Given the description of an element on the screen output the (x, y) to click on. 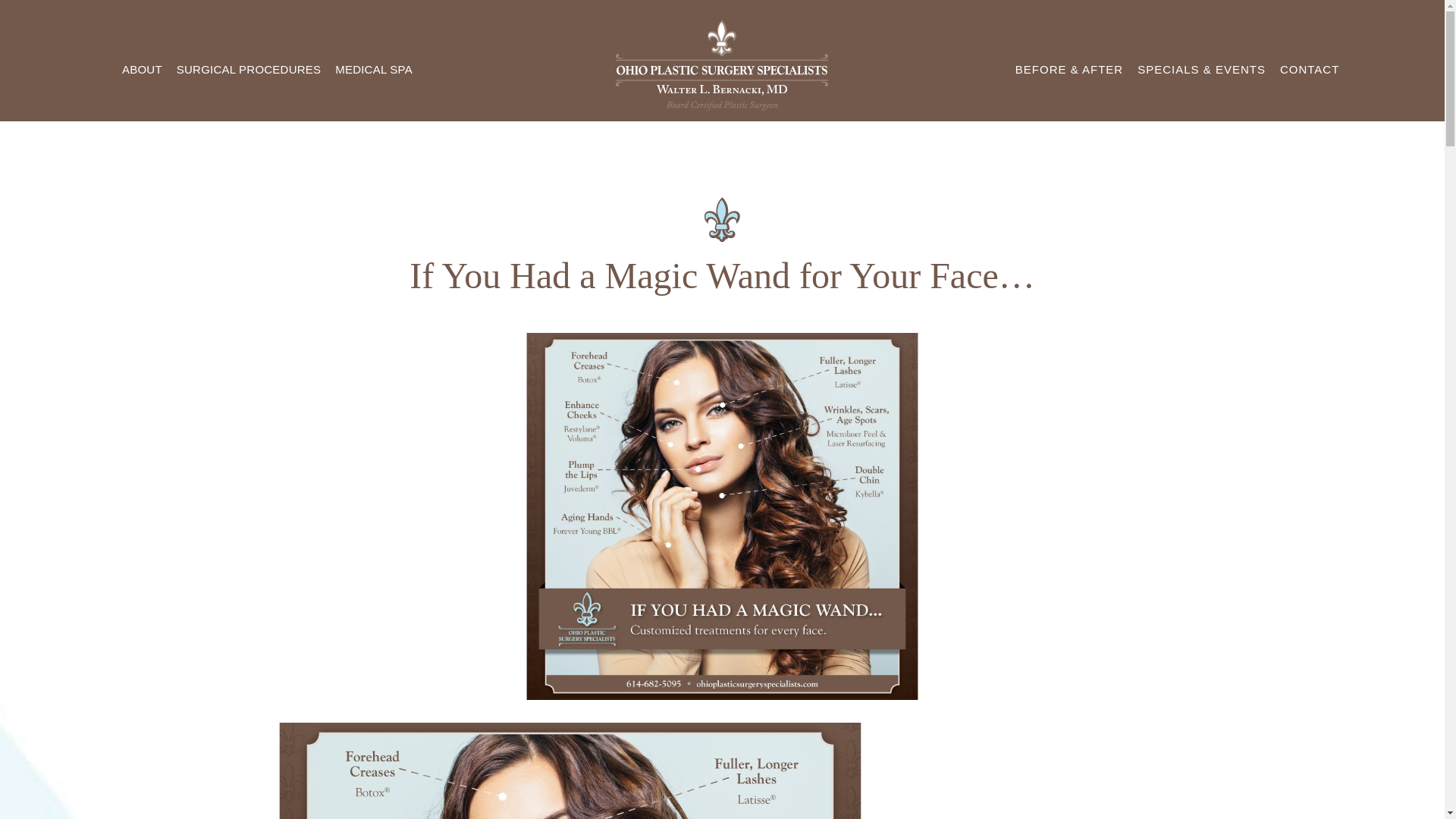
ABOUT (141, 69)
MEDICAL SPA (374, 69)
SURGICAL PROCEDURES (247, 69)
